Given the description of an element on the screen output the (x, y) to click on. 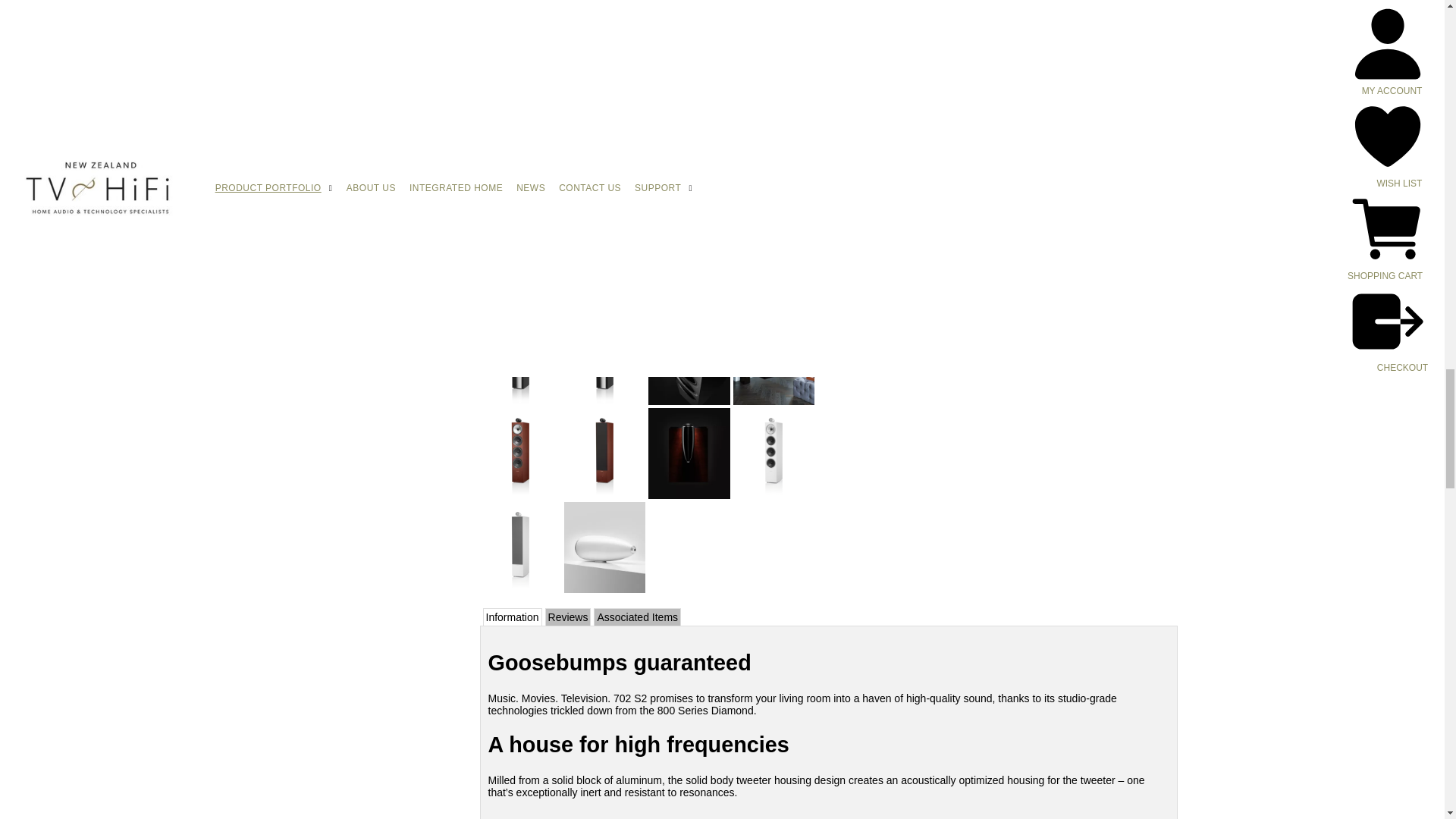
Buy Now (991, 213)
Submit Product Review (972, 64)
Rosenut (945, 113)
Rosenut (923, 150)
